Given the description of an element on the screen output the (x, y) to click on. 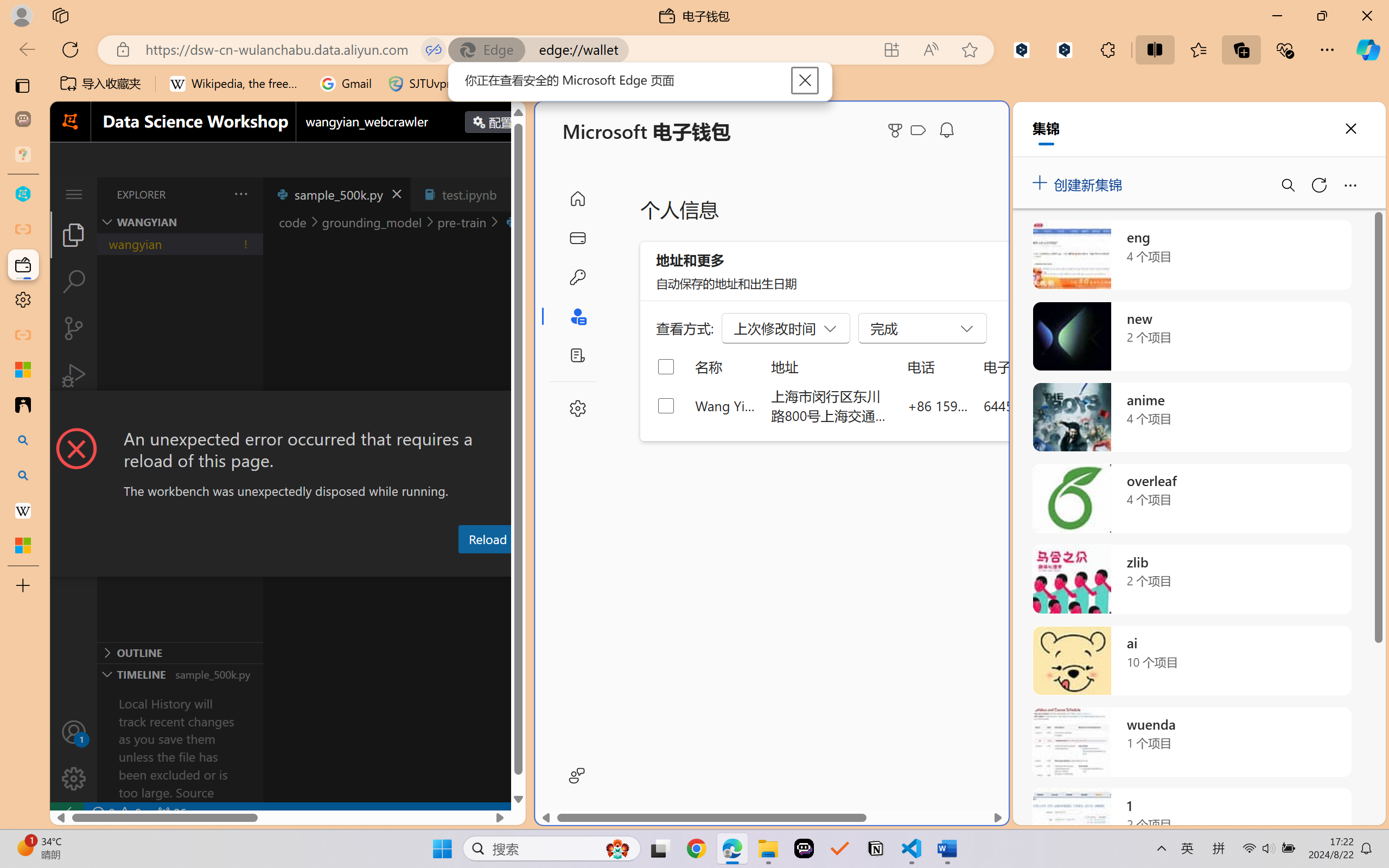
Wang Yian (725, 405)
Close (Ctrl+F4) (512, 194)
Problems (Ctrl+Shift+M) (308, 565)
